Given the description of an element on the screen output the (x, y) to click on. 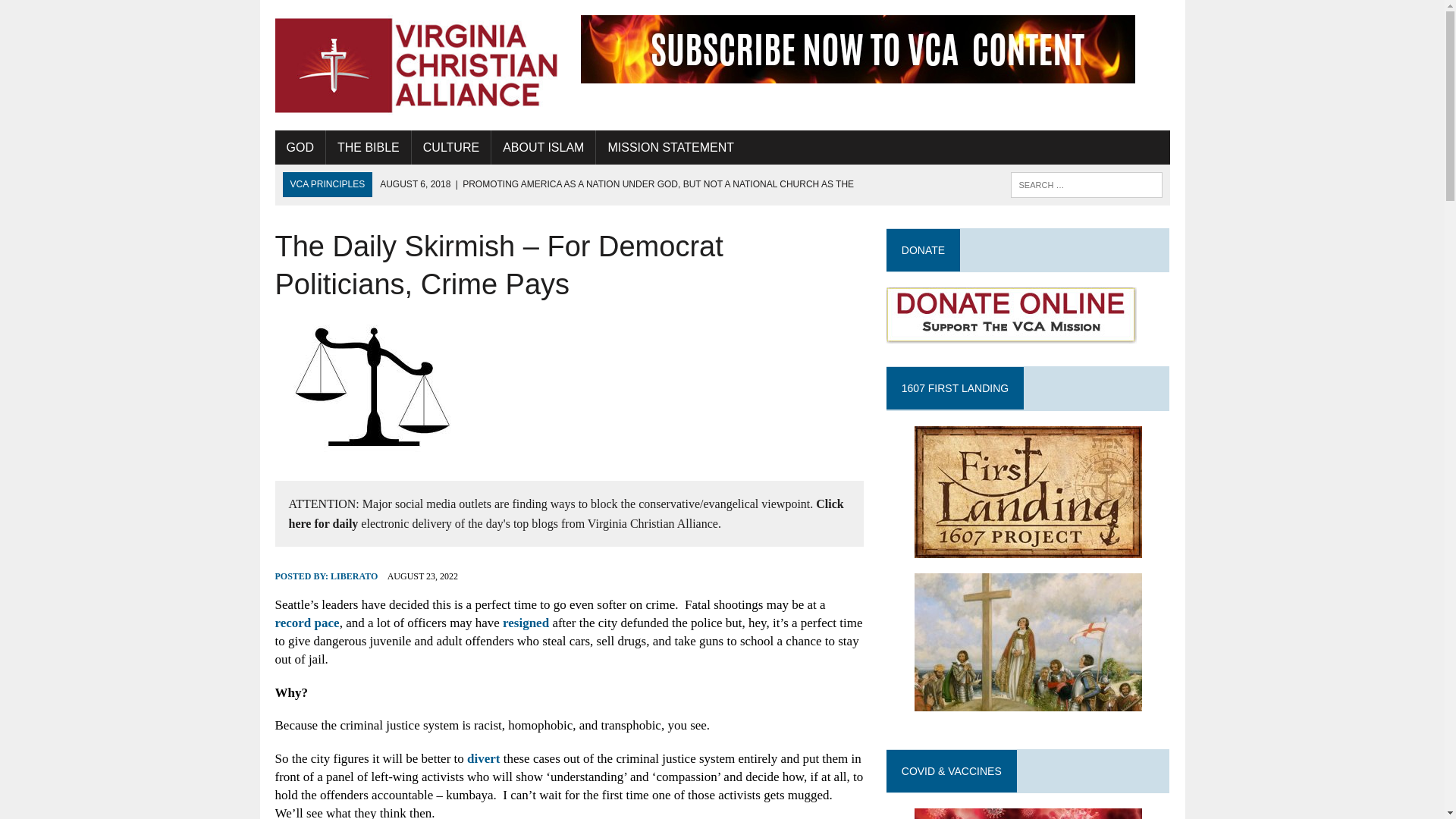
CULTURE (451, 147)
MISSION STATEMENT (670, 147)
record pace (307, 622)
LIBERATO (353, 575)
Virginia Christian Alliance (416, 65)
Search (75, 14)
GOD (299, 147)
divert (483, 758)
THE BIBLE (368, 147)
resigned (525, 622)
ABOUT ISLAM (543, 147)
